Given the description of an element on the screen output the (x, y) to click on. 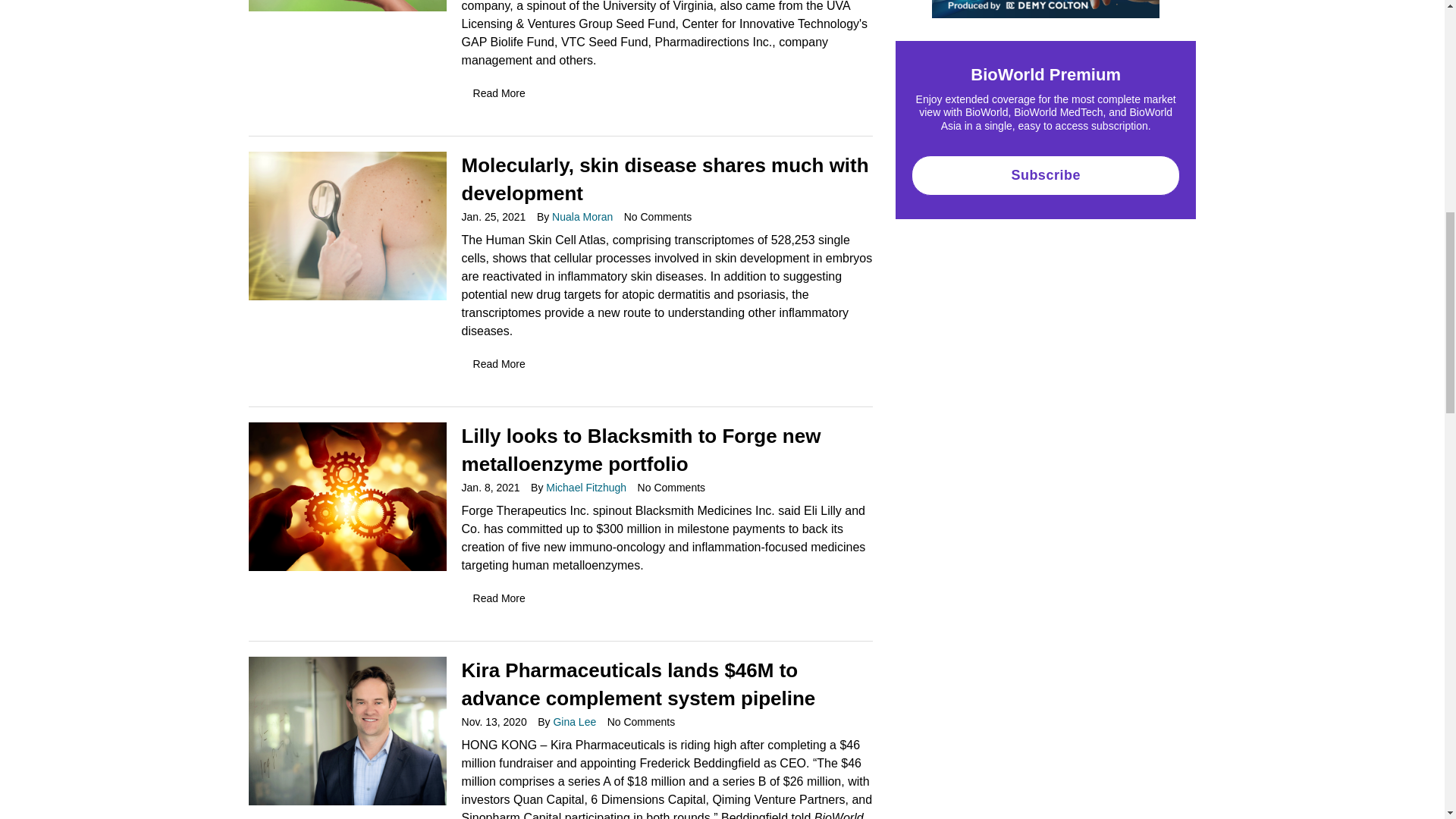
Skin exam (347, 225)
Hands holding gears (347, 496)
Molecularly, skin disease shares much with development (347, 224)
Hand holding money plant (347, 5)
Molecularly, skin disease shares much with development (657, 216)
Molecularly, skin disease shares much with development (527, 364)
